Given the description of an element on the screen output the (x, y) to click on. 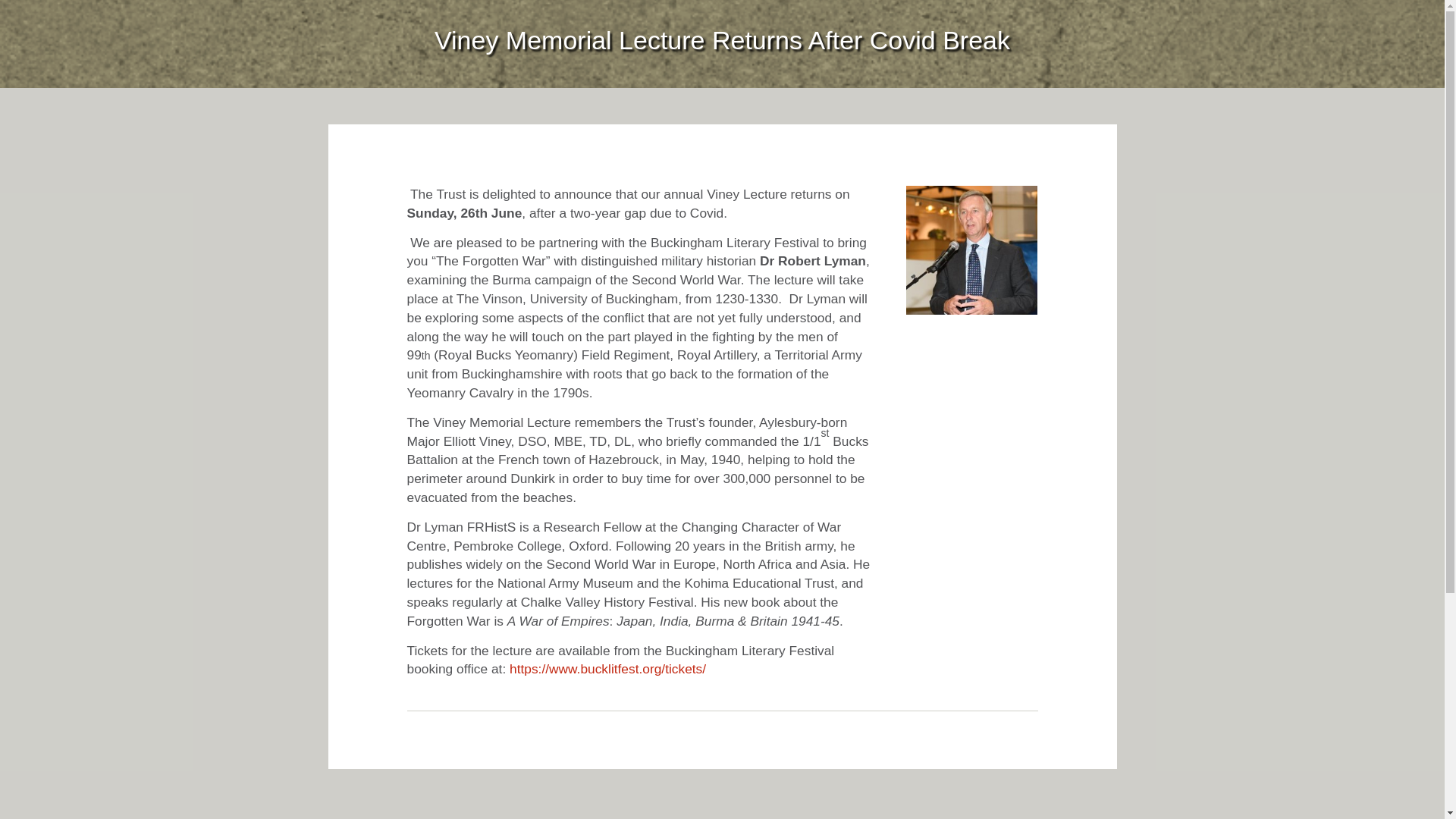
Dr Robert-Lyman (971, 249)
